Given the description of an element on the screen output the (x, y) to click on. 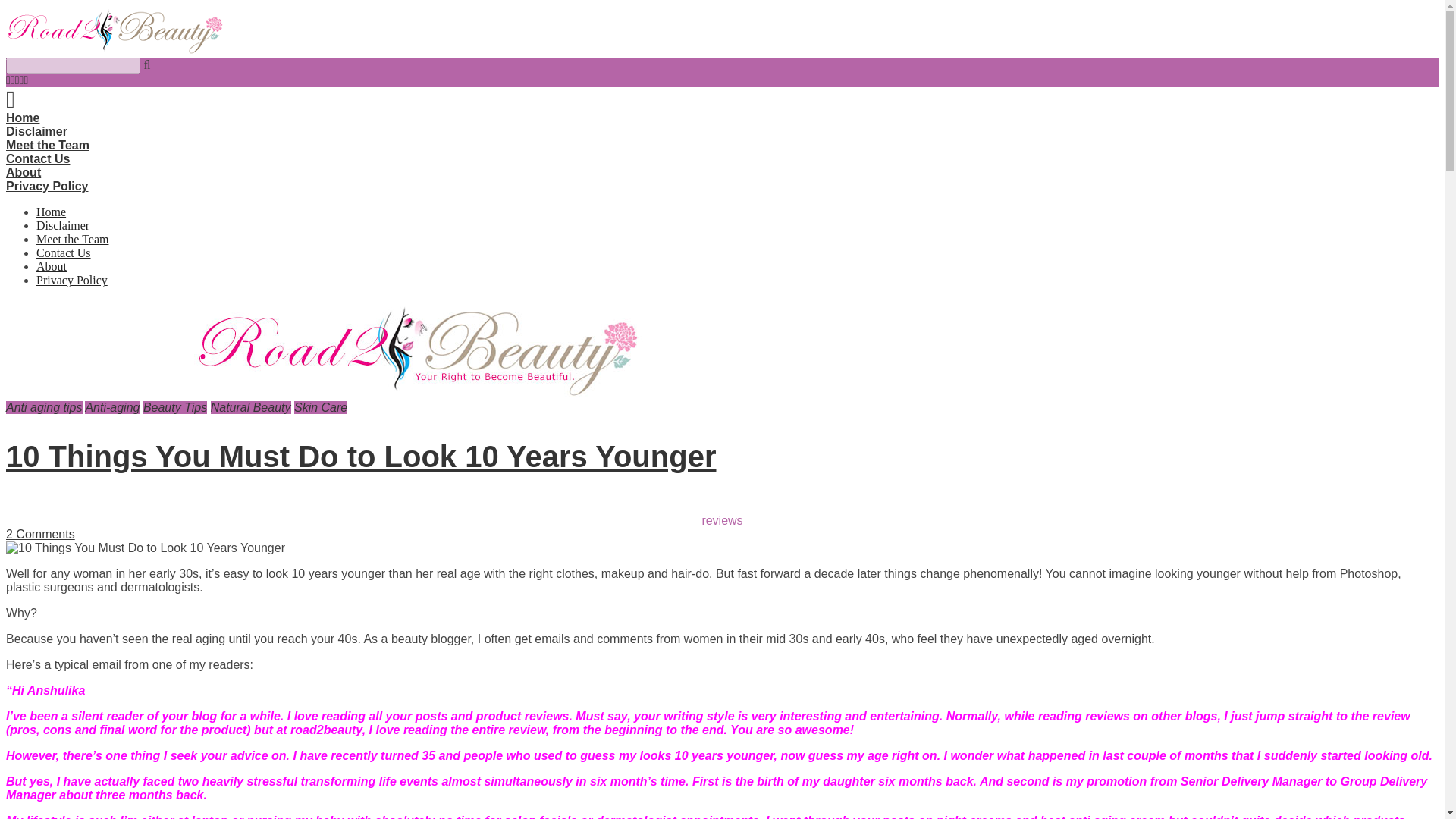
Home (50, 211)
10 Things You Must Do to Look 10 Years Younger (360, 456)
About (22, 172)
Anti aging tips (43, 407)
About (51, 266)
Contact Us (63, 252)
Contact Us (37, 158)
Natural Beauty (251, 407)
Home (22, 117)
Anti-aging (111, 407)
